Given the description of an element on the screen output the (x, y) to click on. 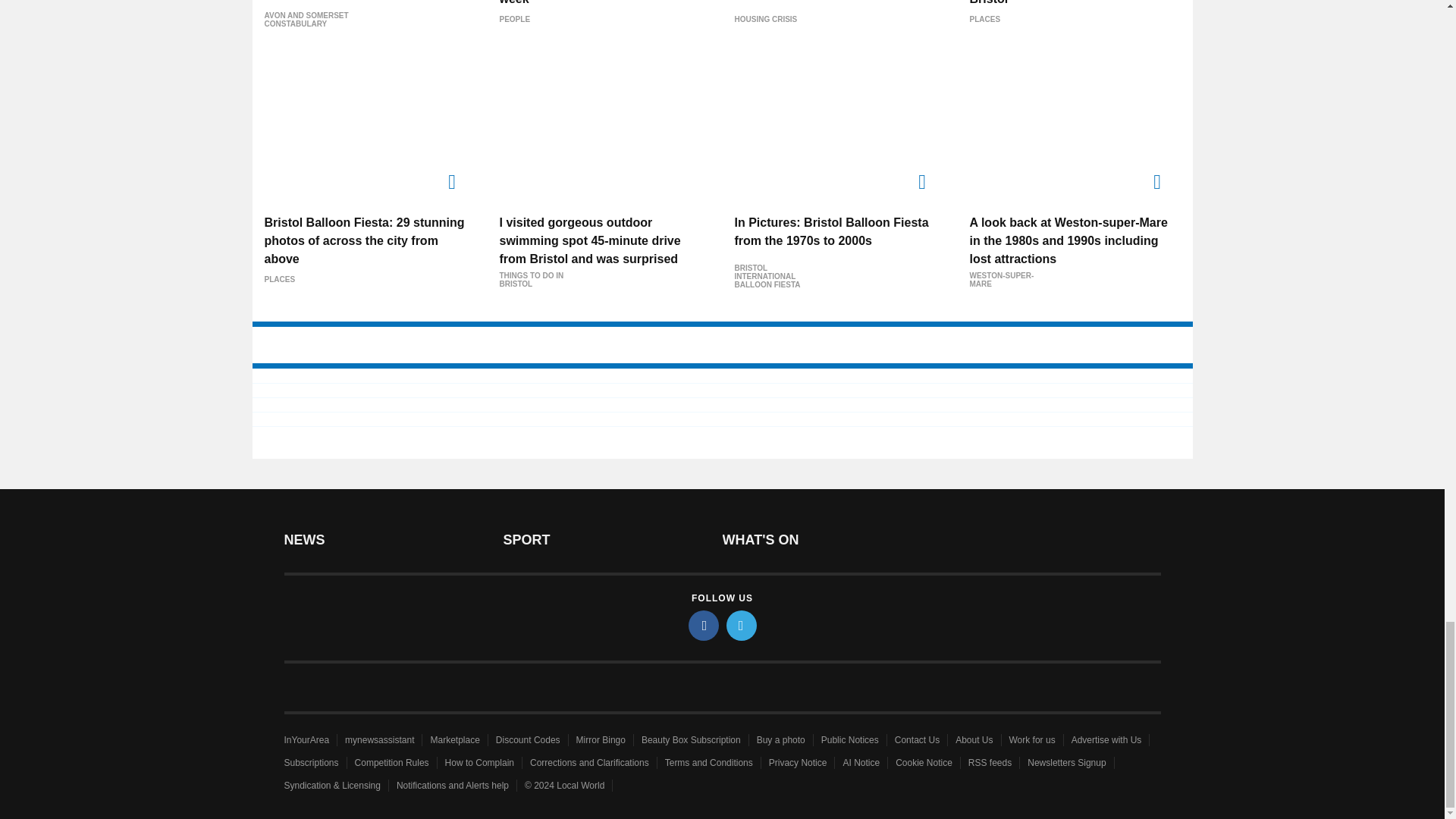
twitter (741, 625)
facebook (703, 625)
